Given the description of an element on the screen output the (x, y) to click on. 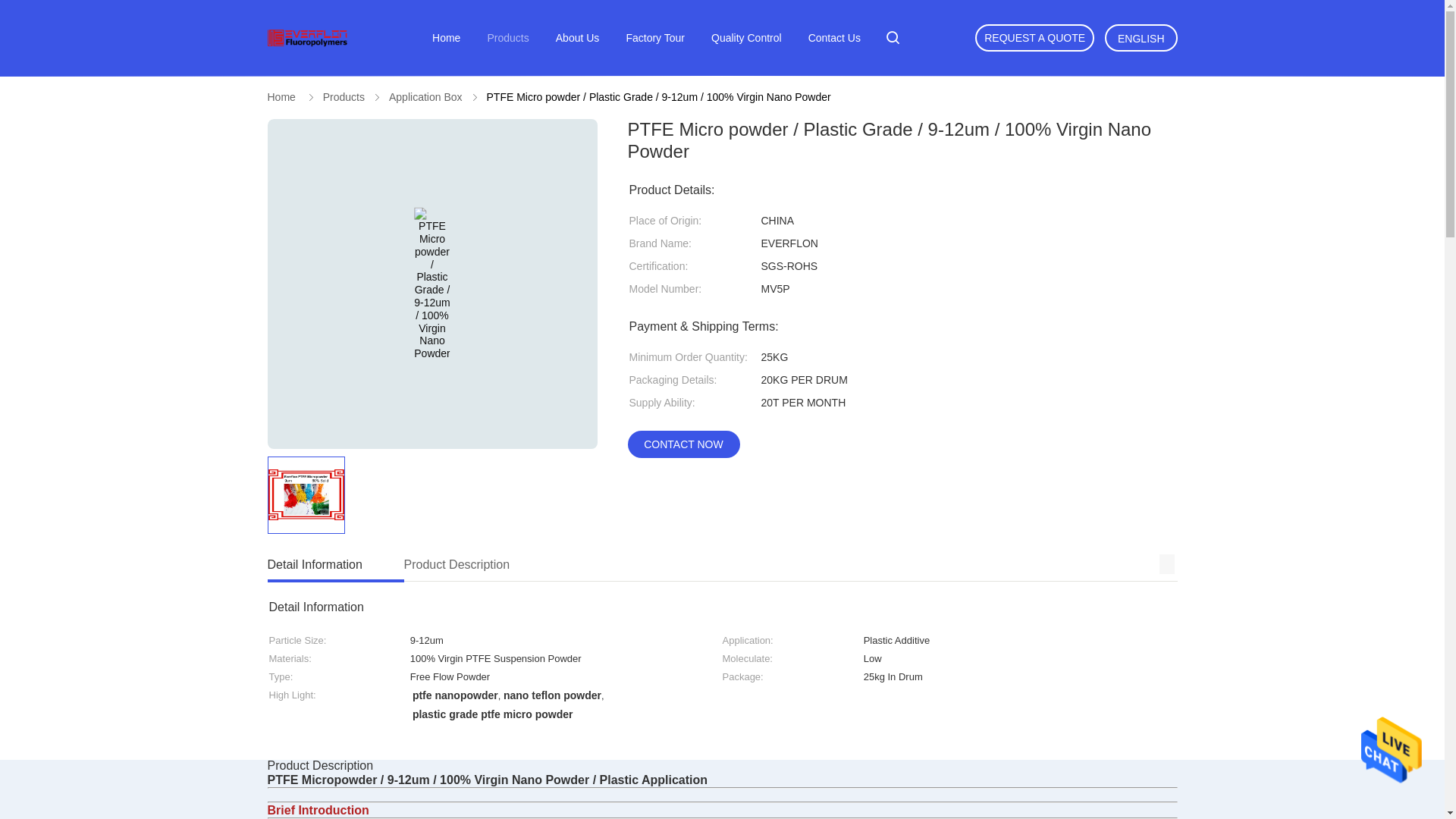
Products (507, 37)
Home (280, 96)
Quality Control (746, 37)
Products (344, 96)
Factory Tour (655, 37)
About Us (676, 565)
Home (577, 37)
REQUEST A QUOTE (446, 37)
Contact Us (1034, 37)
Application Box (834, 37)
